Given the description of an element on the screen output the (x, y) to click on. 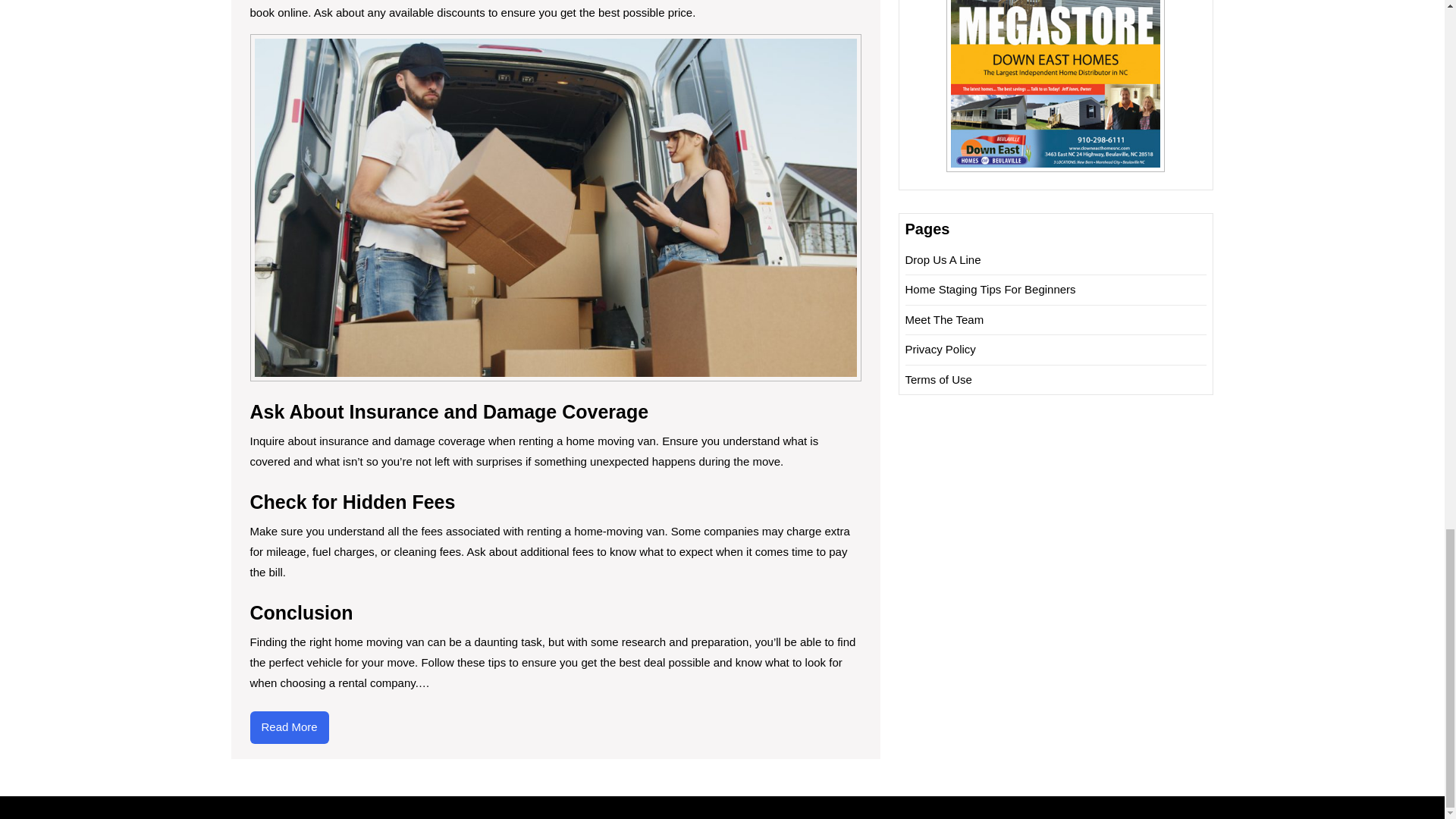
Home Staging Tips For Beginners (990, 288)
Privacy Policy (940, 349)
Meet The Team (944, 318)
Drop Us A Line (943, 259)
Terms of Use (938, 379)
